Given the description of an element on the screen output the (x, y) to click on. 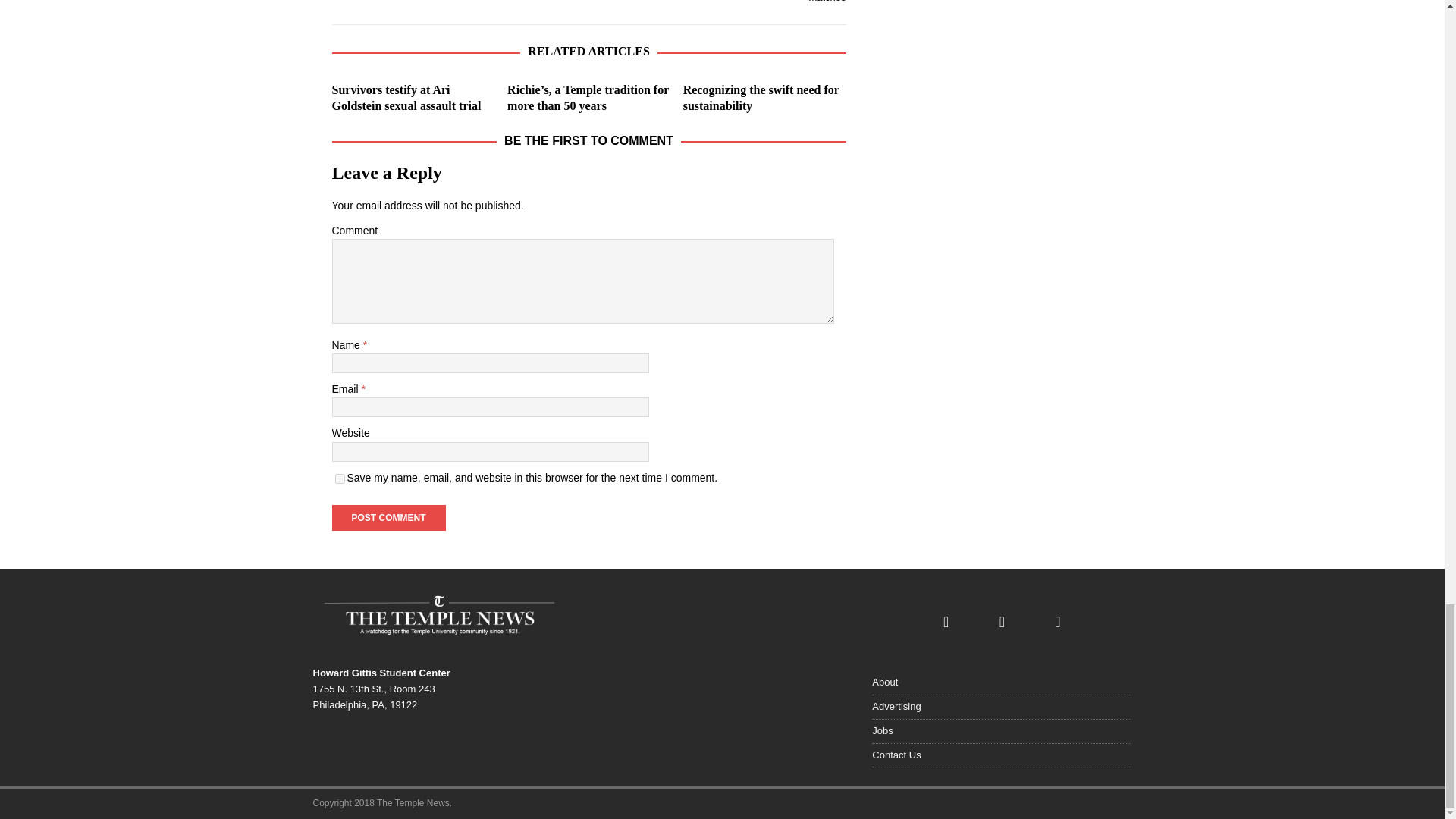
Post Comment (388, 517)
yes (339, 479)
